Given the description of an element on the screen output the (x, y) to click on. 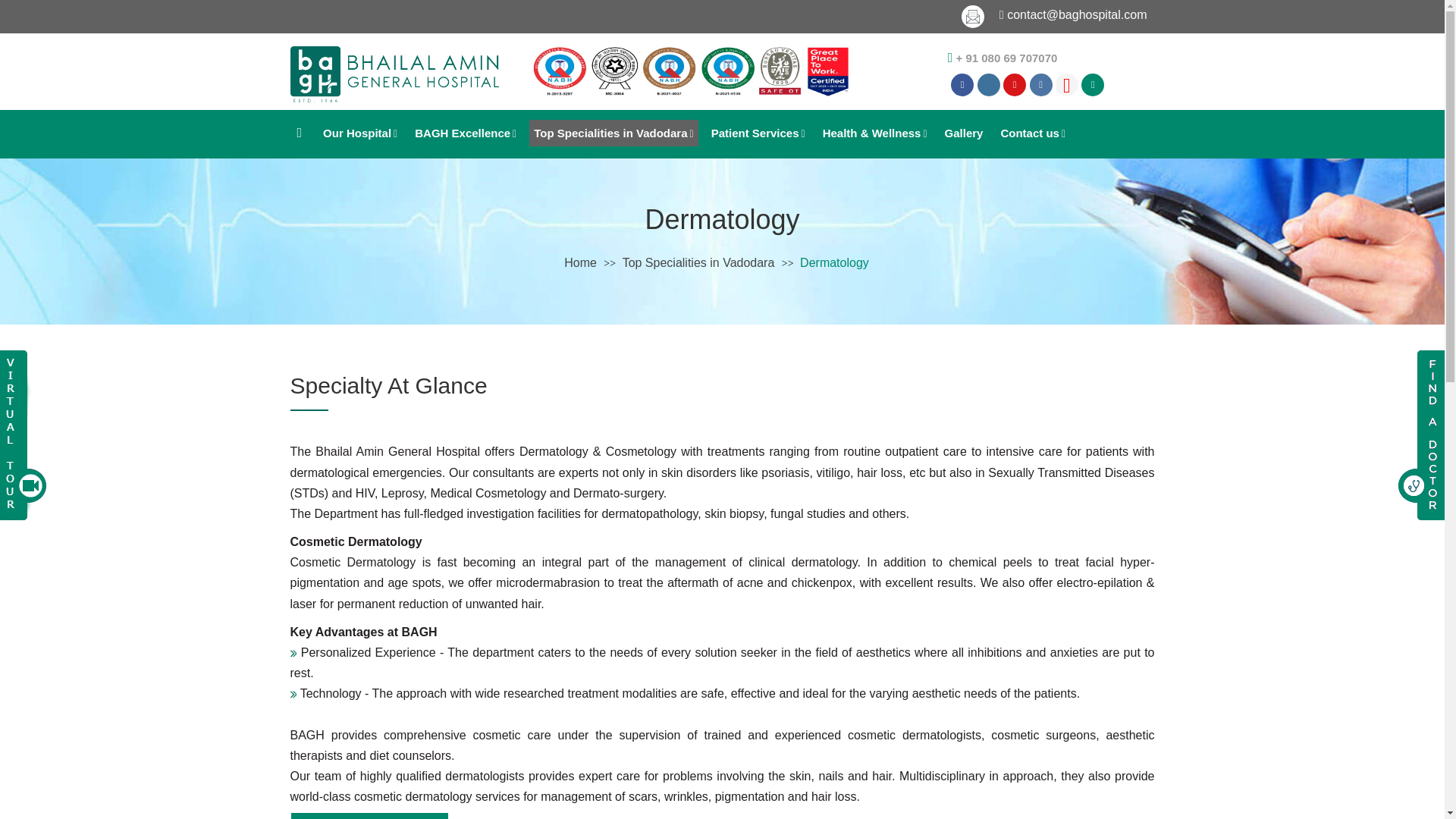
Our Hospital (359, 132)
BAGH Excellence (465, 132)
Top Specialities in Vadodara (613, 132)
